Given the description of an element on the screen output the (x, y) to click on. 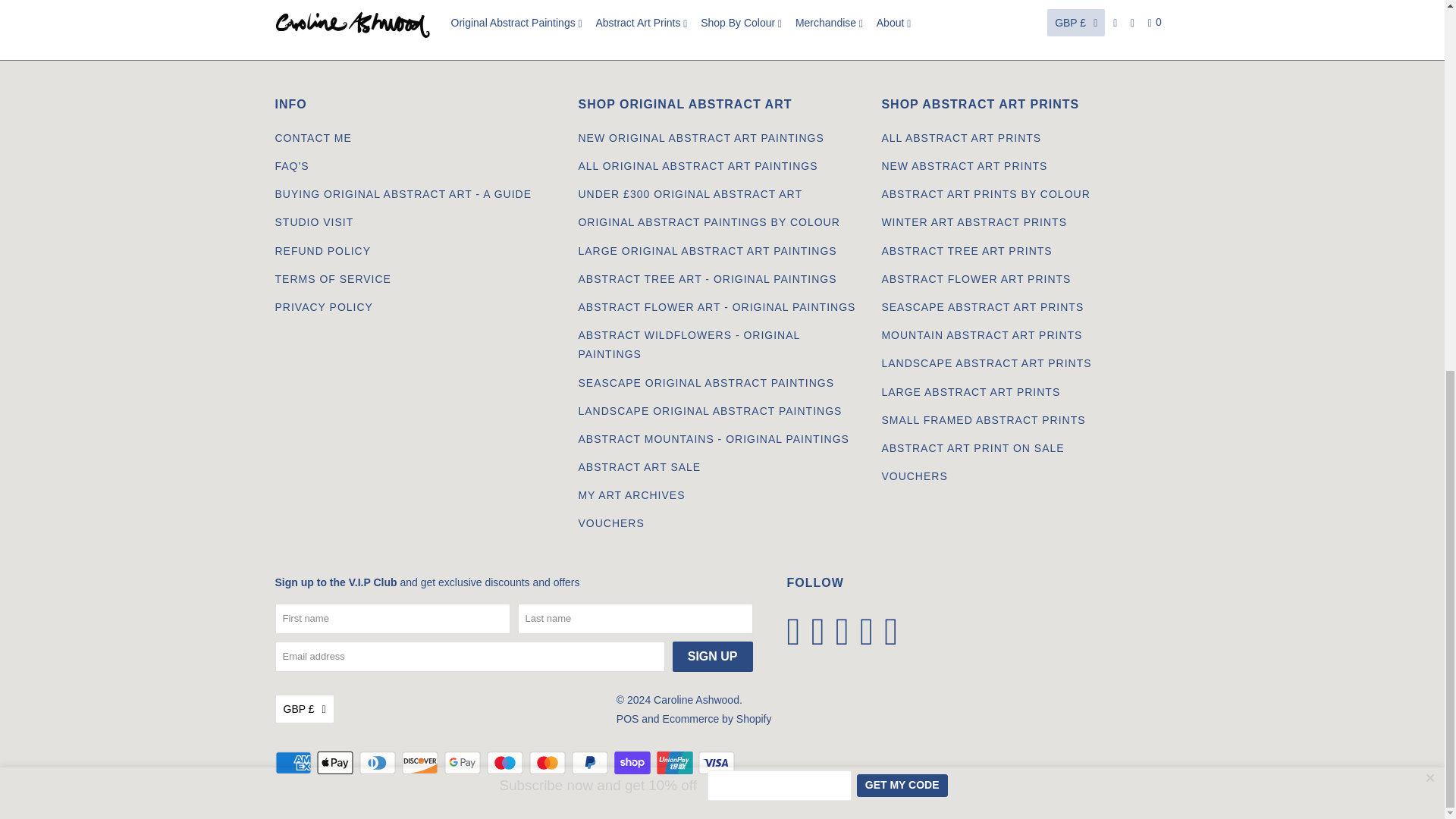
Maestro (505, 762)
Sign Up (712, 656)
Diners Club (378, 762)
Get my code (902, 110)
Shop Pay (633, 762)
PayPal (591, 762)
Mastercard (549, 762)
Google Pay (463, 762)
American Express (294, 762)
Apple Pay (336, 762)
